Given the description of an element on the screen output the (x, y) to click on. 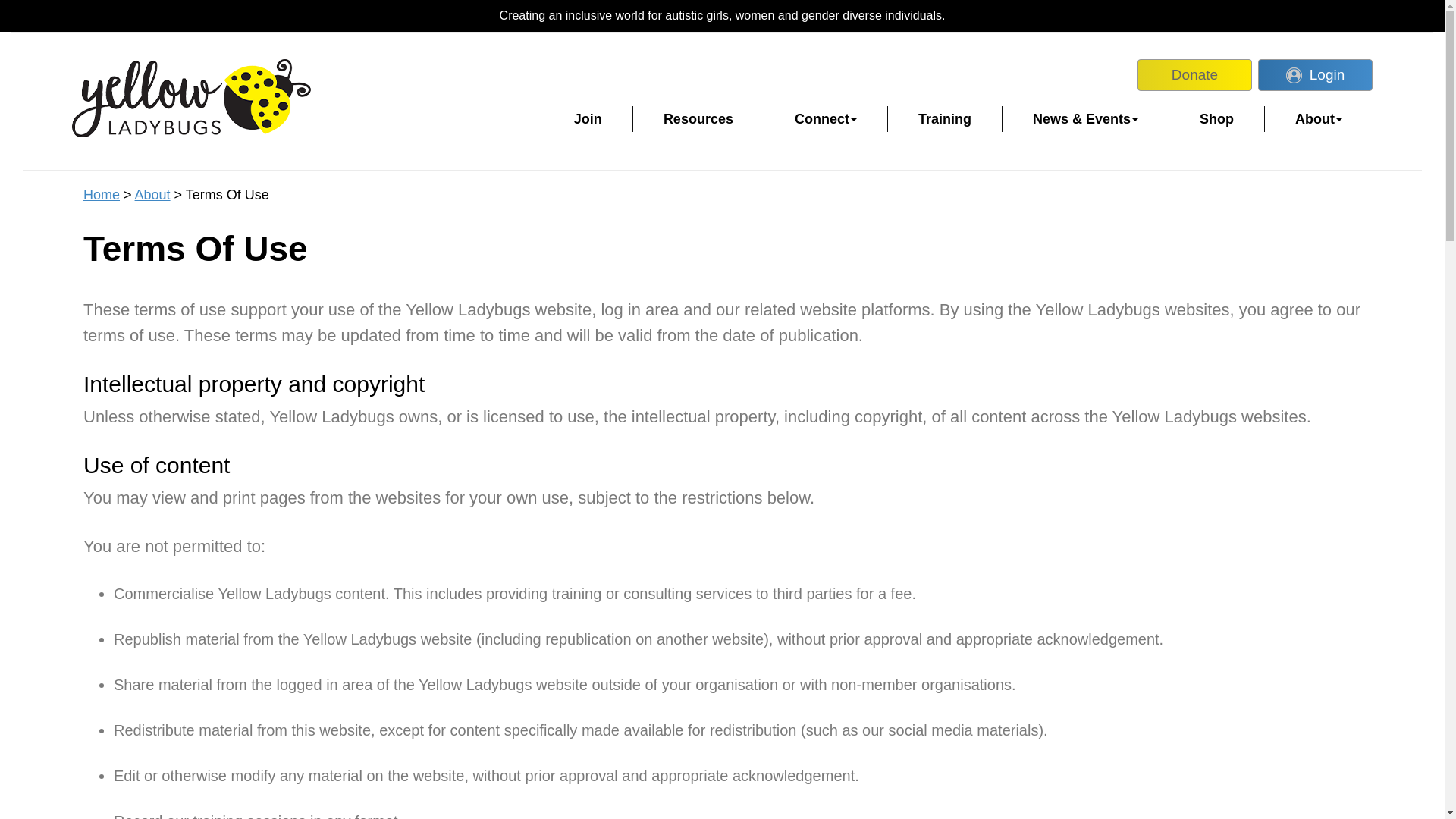
Resources (698, 118)
Join (587, 118)
About (1318, 118)
Training (944, 118)
Donate (1194, 74)
Connect (825, 118)
Shop (1216, 118)
Login (1315, 74)
